Given the description of an element on the screen output the (x, y) to click on. 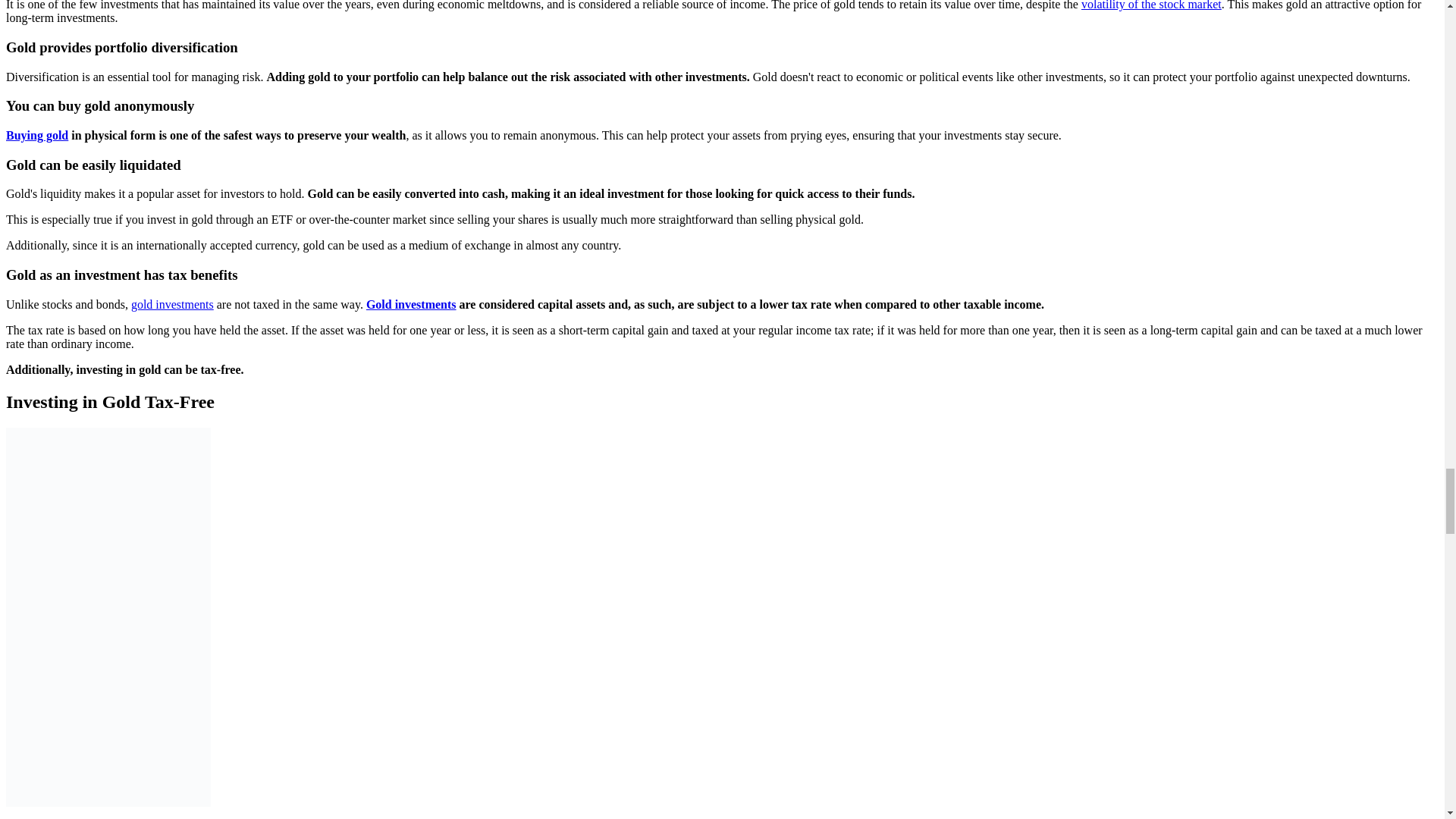
Buying gold (36, 134)
volatility of the stock market (1151, 5)
Investing In Gold Tax Free (108, 616)
